Given the description of an element on the screen output the (x, y) to click on. 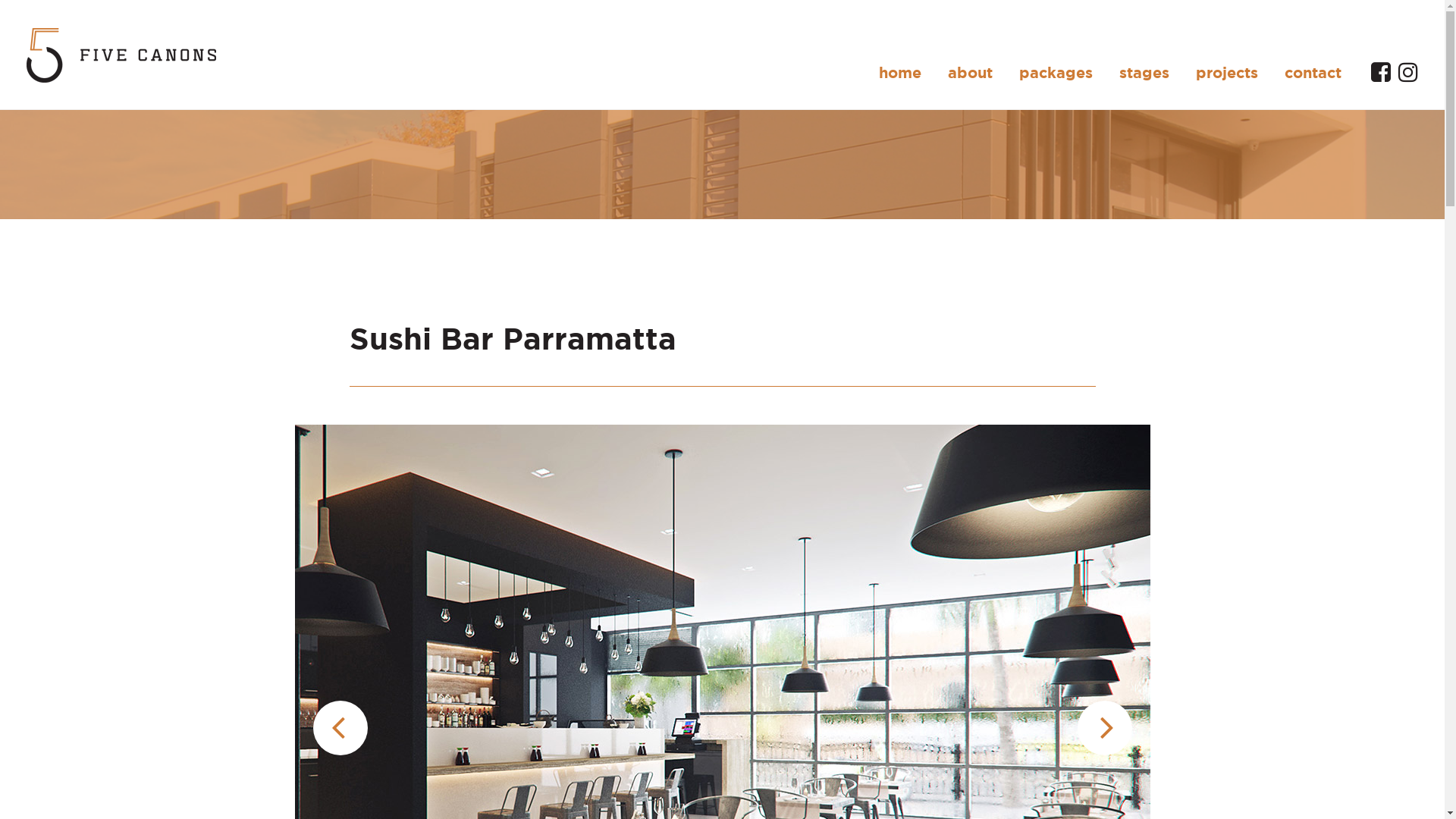
contact Element type: text (1312, 72)
projects Element type: text (1226, 72)
home Element type: text (899, 72)
Five Canons Element type: text (121, 55)
packages Element type: text (1055, 72)
stages Element type: text (1144, 72)
Next Element type: text (1103, 727)
about Element type: text (969, 72)
Prev Element type: text (339, 727)
